Given the description of an element on the screen output the (x, y) to click on. 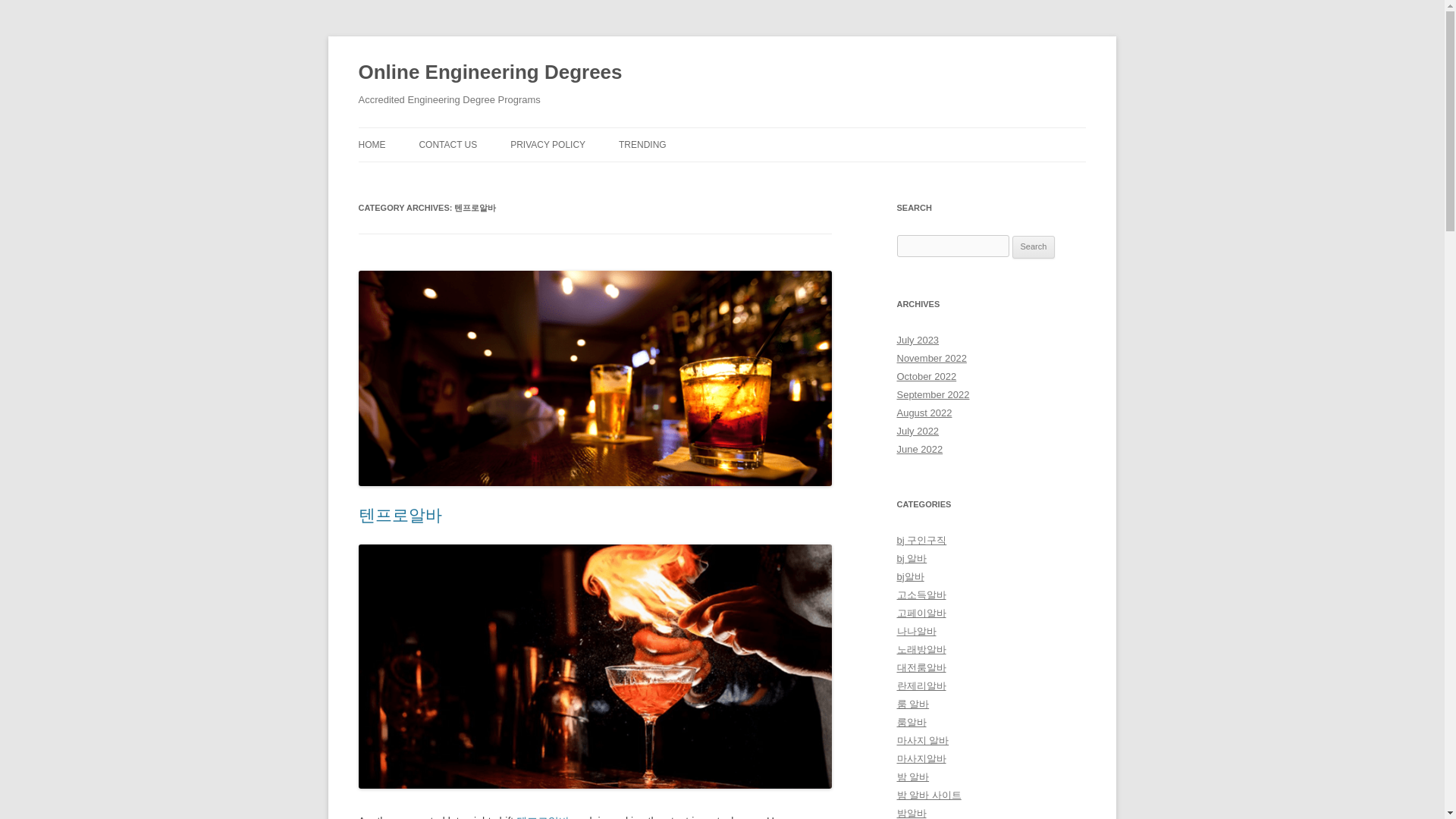
TRENDING (642, 144)
September 2022 (932, 394)
Search (1033, 246)
August 2022 (924, 412)
Online Engineering Degrees (489, 72)
July 2022 (917, 430)
CONTACT US (448, 144)
July 2023 (917, 339)
October 2022 (926, 376)
PRIVACY POLICY (548, 144)
June 2022 (919, 449)
November 2022 (931, 357)
Search (1033, 246)
